Given the description of an element on the screen output the (x, y) to click on. 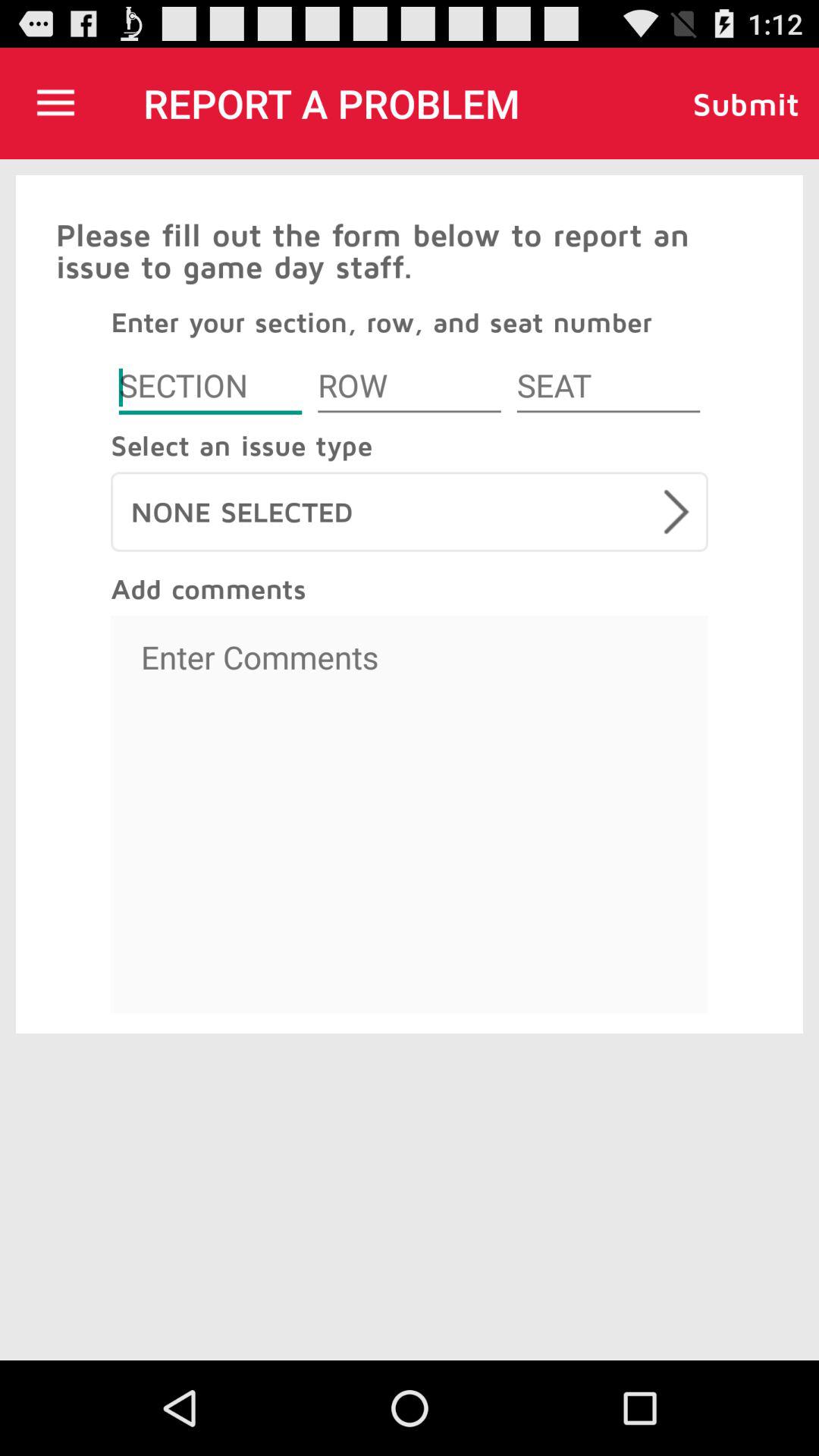
press the item next to the report a problem item (55, 103)
